Given the description of an element on the screen output the (x, y) to click on. 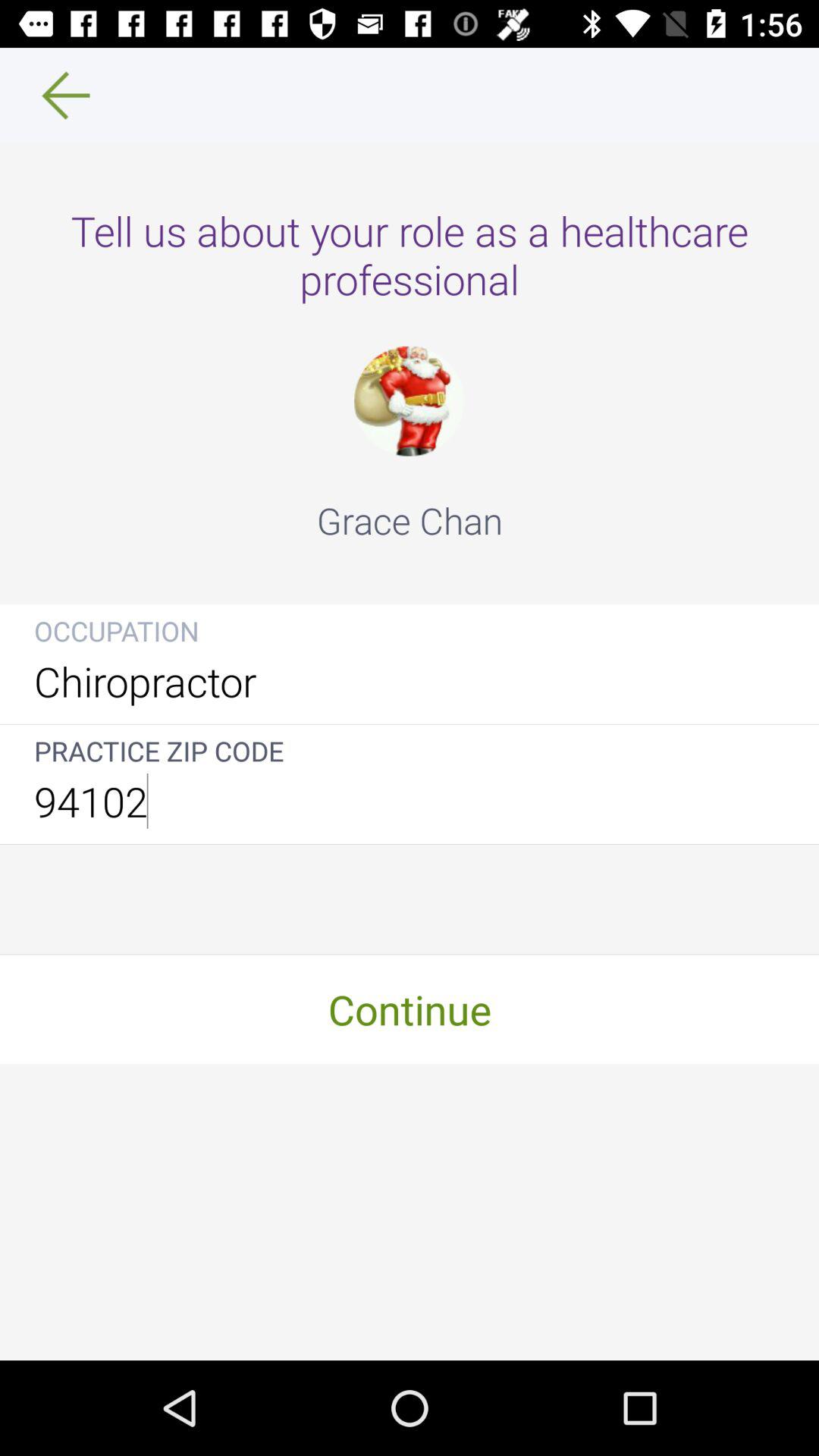
choose icon at the top left corner (55, 95)
